Given the description of an element on the screen output the (x, y) to click on. 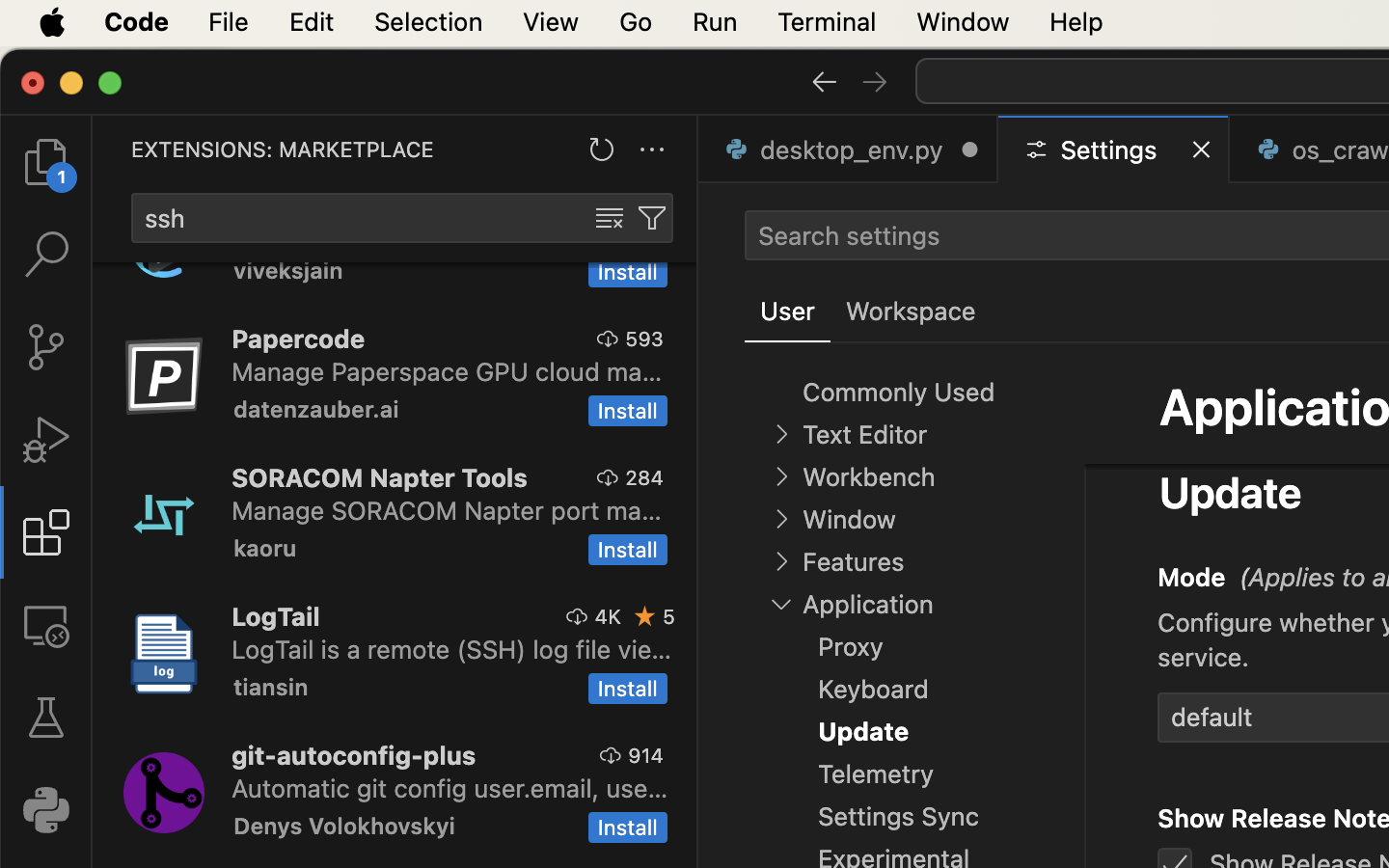
Update Element type: AXStaticText (1230, 491)
0  Element type: AXRadioButton (46, 717)
git-autoconfig-plus Element type: AXStaticText (353, 754)
 Element type: AXStaticText (644, 615)
Commonly Used Element type: AXStaticText (898, 392)
